Given the description of an element on the screen output the (x, y) to click on. 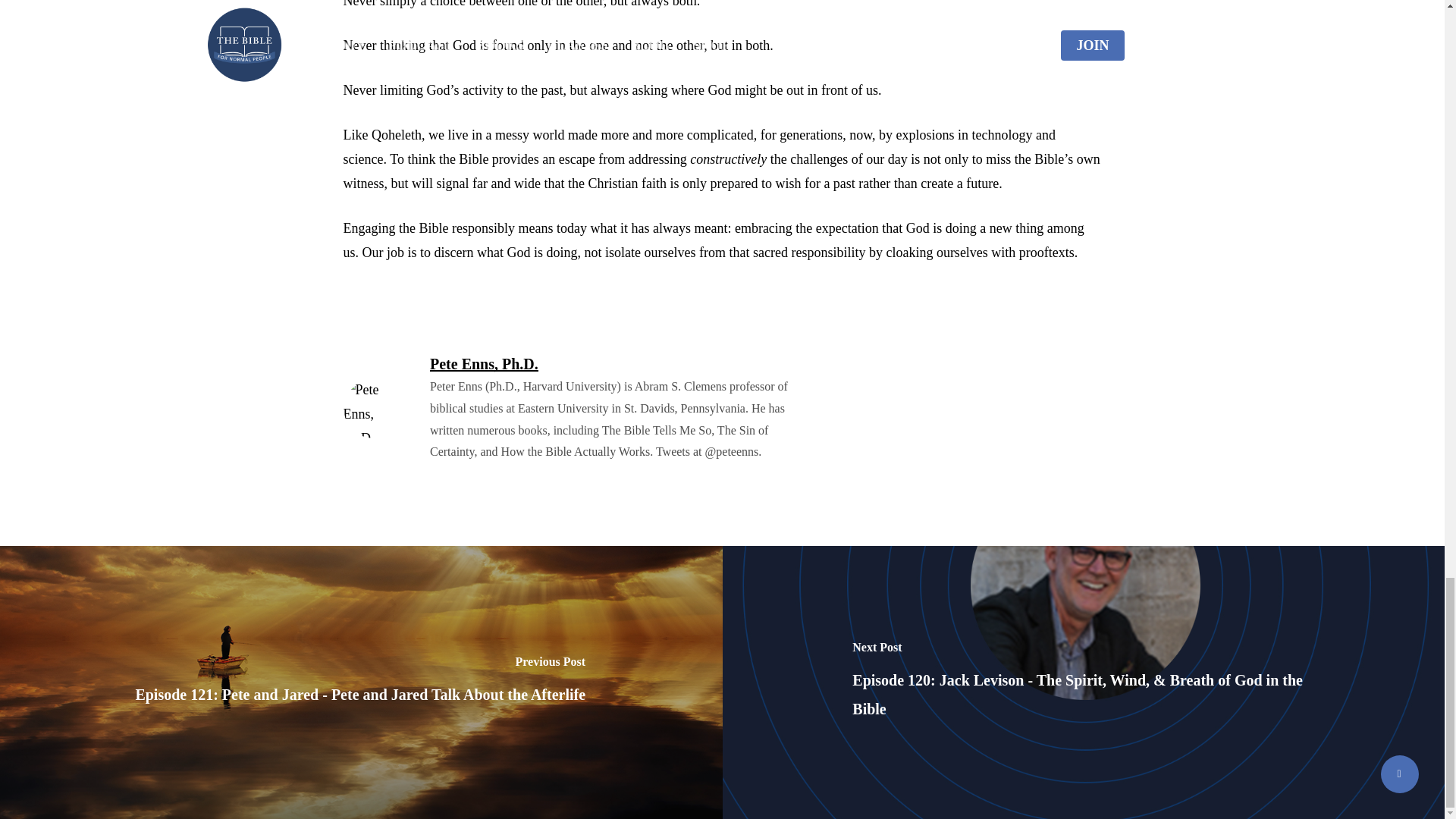
Pete Enns, Ph.D. (483, 363)
